Given the description of an element on the screen output the (x, y) to click on. 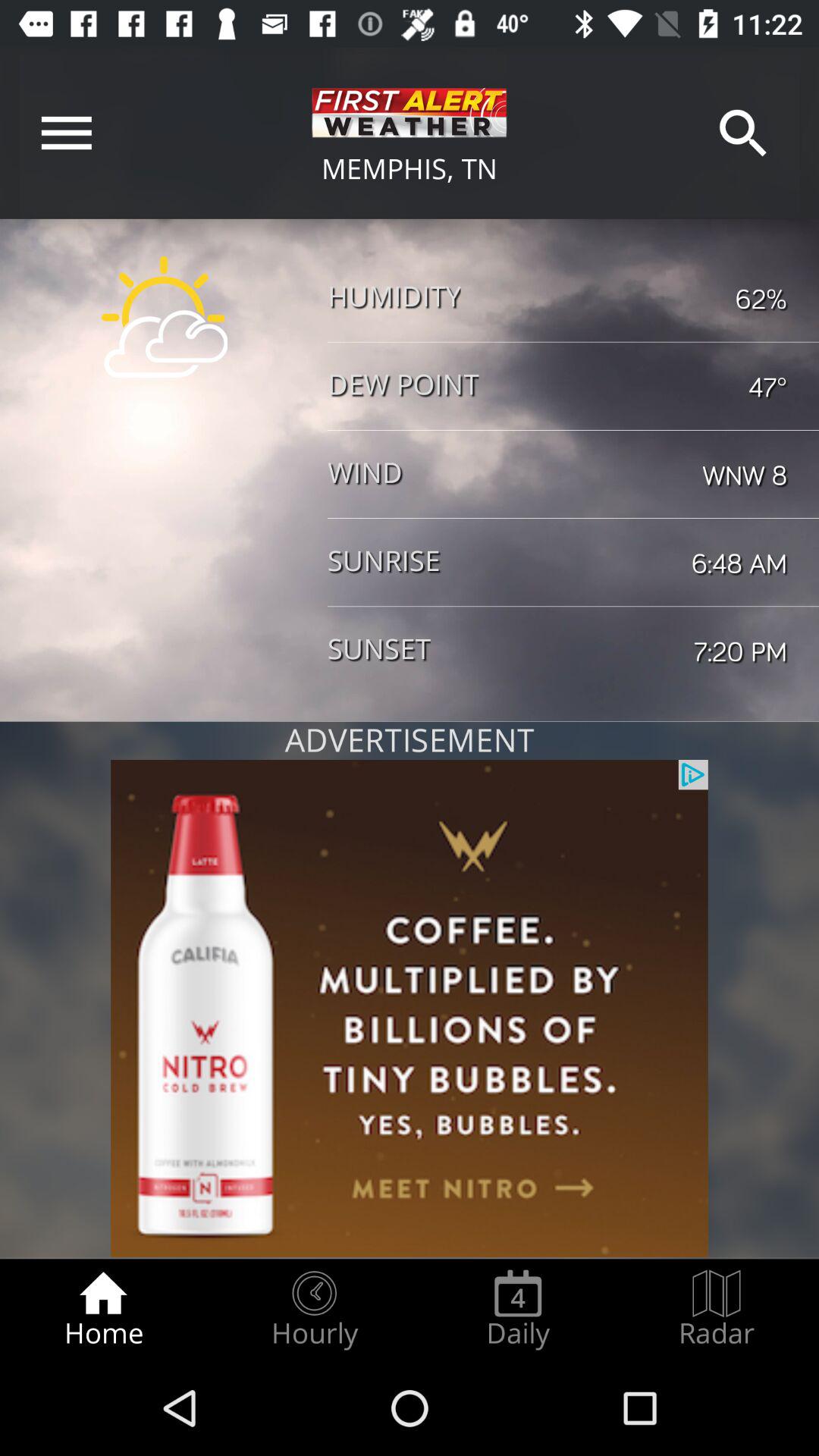
turn on icon to the right of daily (716, 1309)
